Given the description of an element on the screen output the (x, y) to click on. 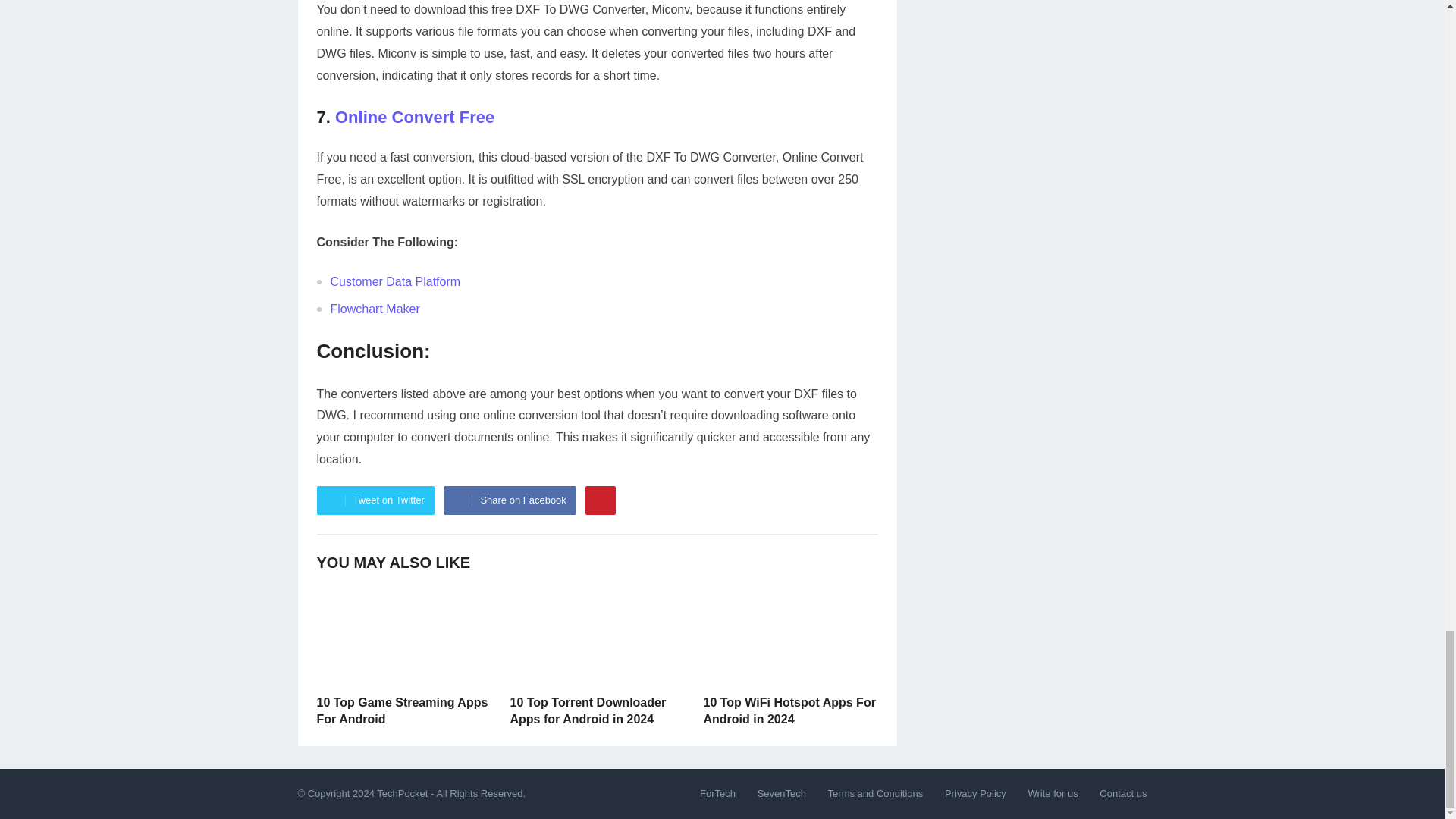
10 Top Game Streaming Apps For Android (402, 710)
Online Convert Free (414, 116)
Customer Data Platform (395, 281)
Pinterest (600, 500)
Share on Facebook (509, 500)
10 Top Torrent Downloader Apps for Android in 2024 (587, 710)
Flowchart Maker (375, 308)
Tweet on Twitter (375, 500)
10 Top WiFi Hotspot Apps For Android in 2024 (789, 710)
